Given the description of an element on the screen output the (x, y) to click on. 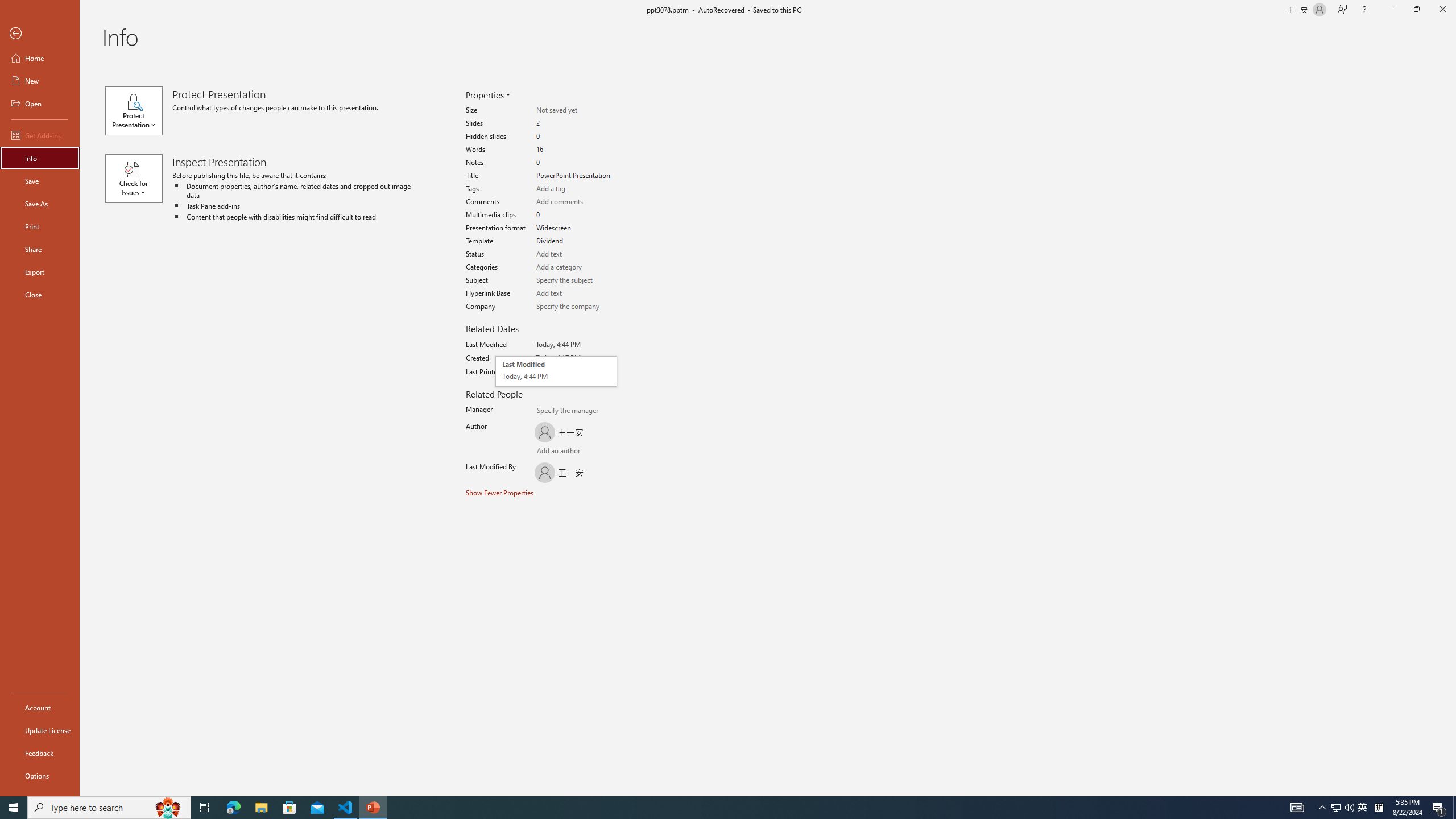
Subject (575, 280)
Size (575, 110)
Specify the manager (542, 411)
Status (575, 253)
Options (40, 775)
Info (40, 157)
Save As (40, 203)
Template (575, 240)
Get Add-ins (40, 134)
Hidden slides (575, 136)
Verify Names (559, 451)
Categories (575, 267)
Show Fewer Properties (499, 492)
